Given the description of an element on the screen output the (x, y) to click on. 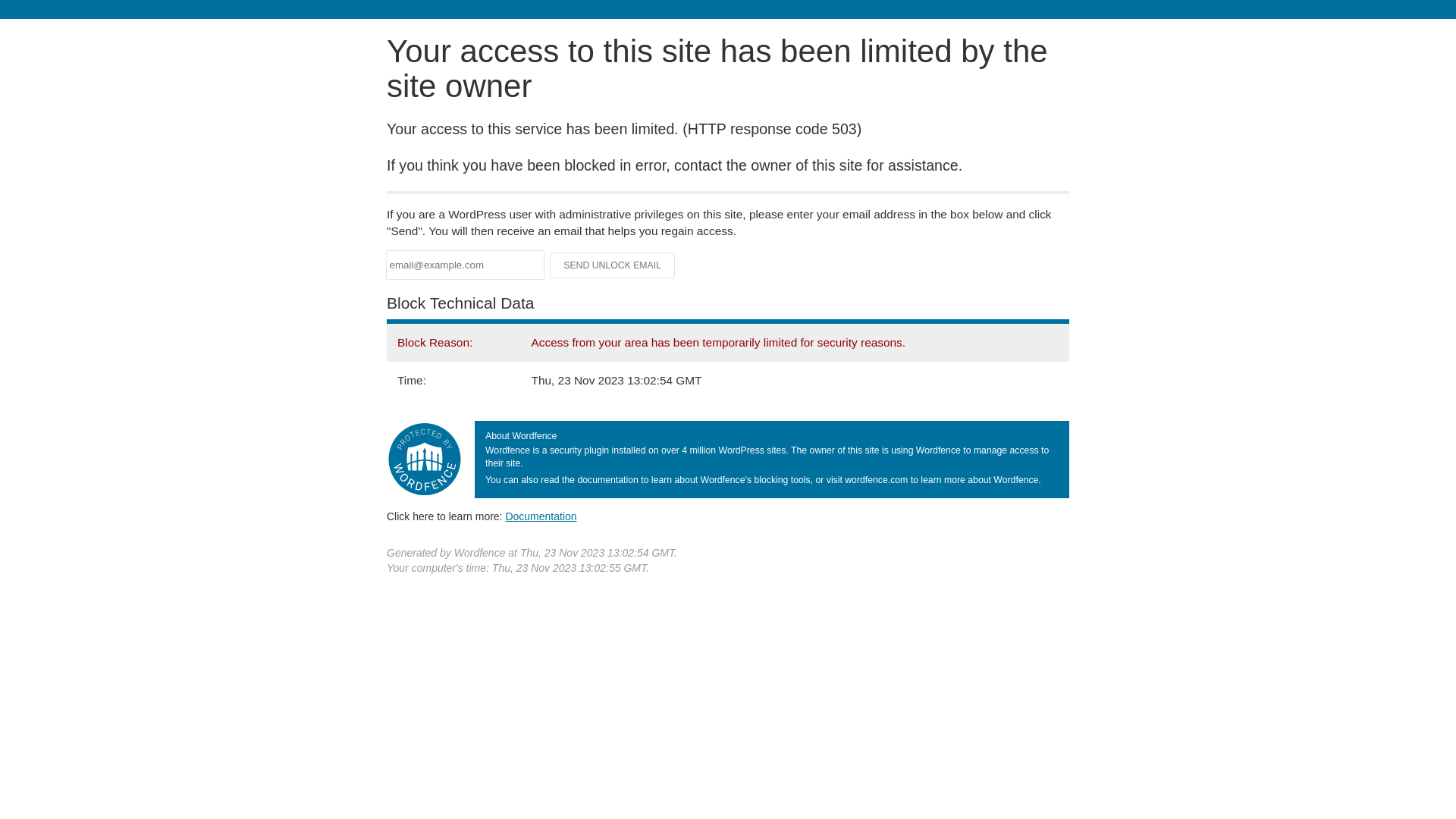
Send Unlock Email Element type: text (612, 265)
Documentation Element type: text (540, 516)
